Given the description of an element on the screen output the (x, y) to click on. 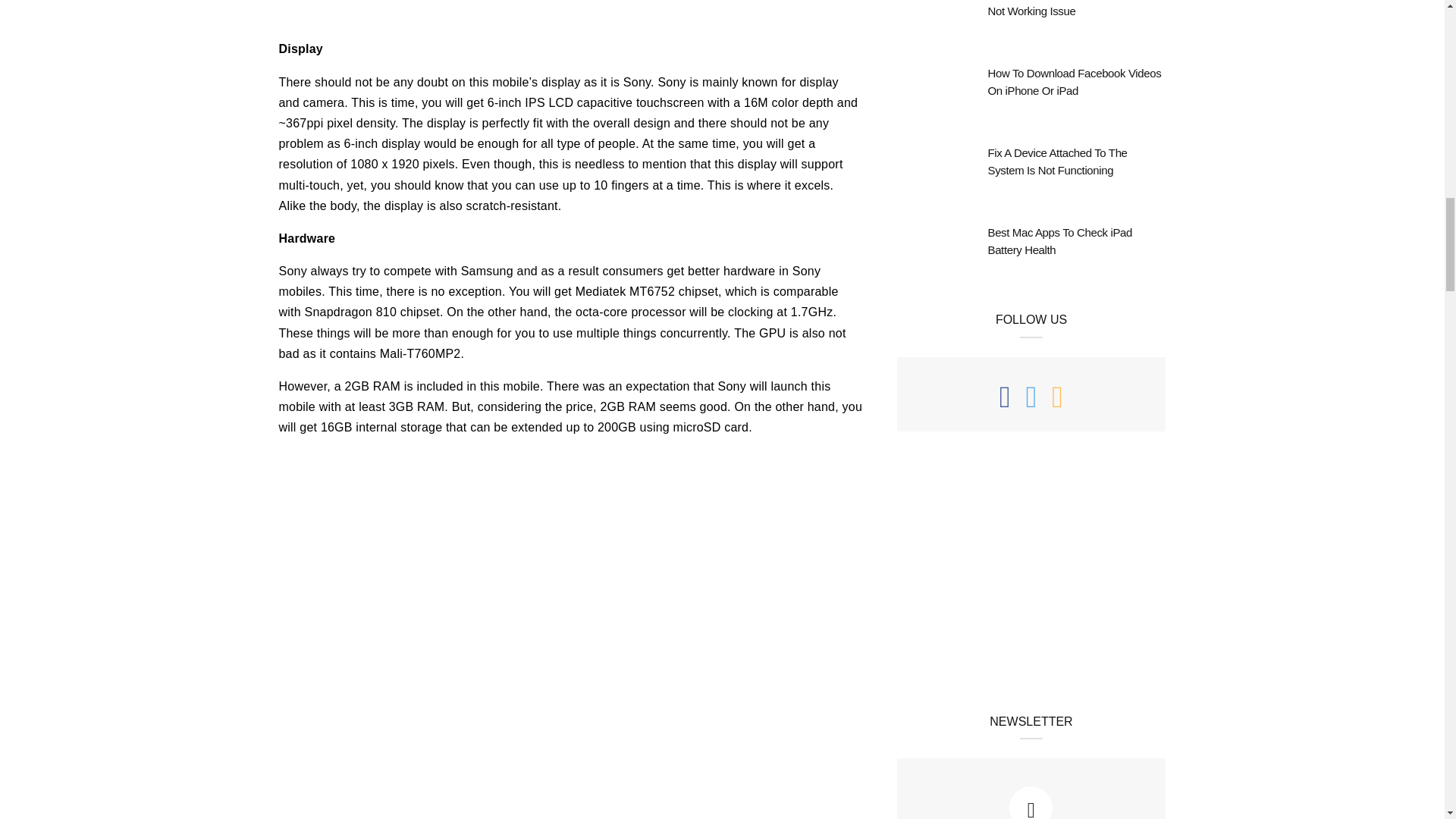
Advertisement (571, 556)
Advertisement (1031, 575)
